Given the description of an element on the screen output the (x, y) to click on. 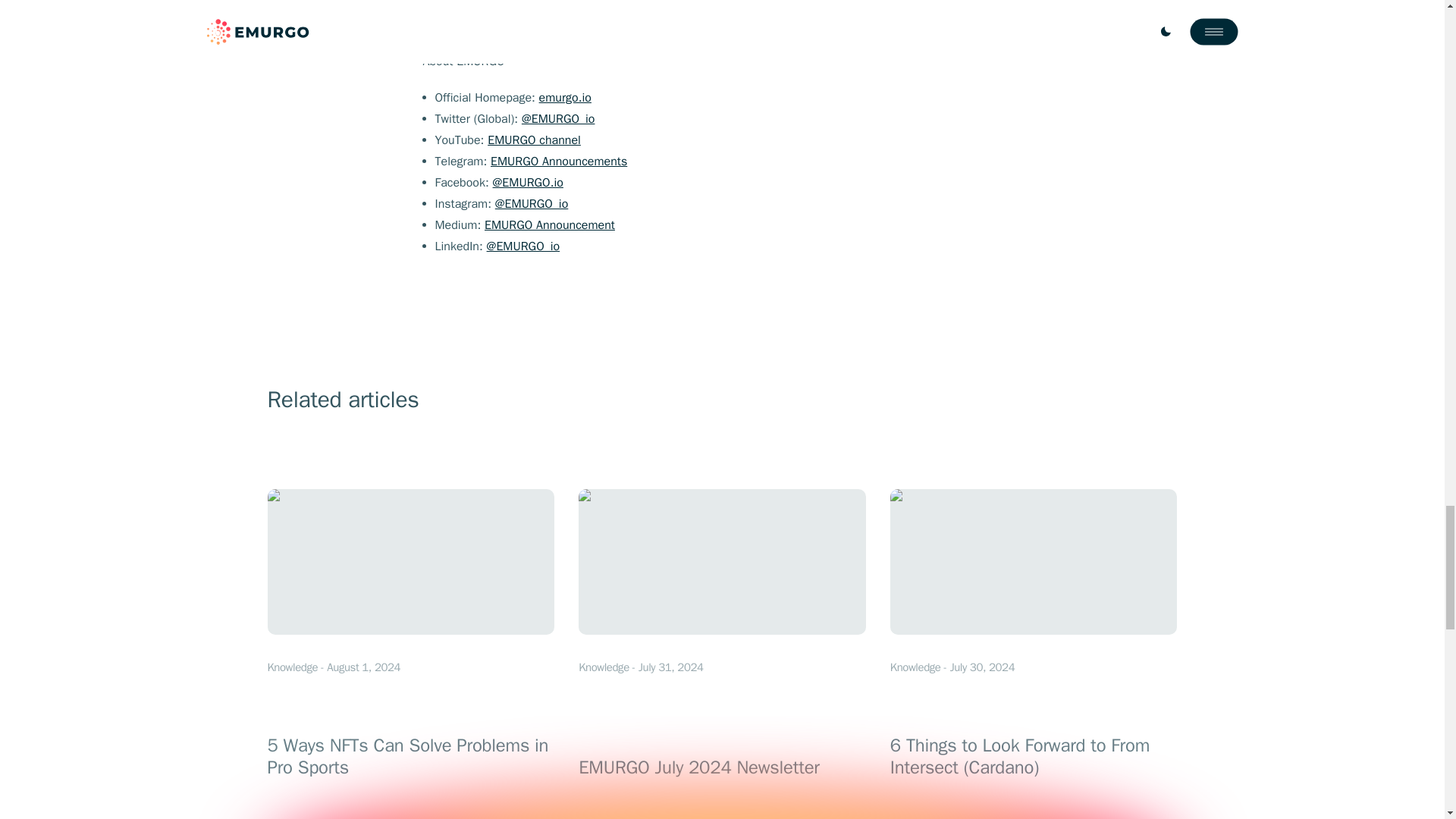
EMURGO Announcement (549, 224)
emurgo.io (564, 97)
EMURGO channel (722, 633)
EMURGO Announcements (533, 140)
